Given the description of an element on the screen output the (x, y) to click on. 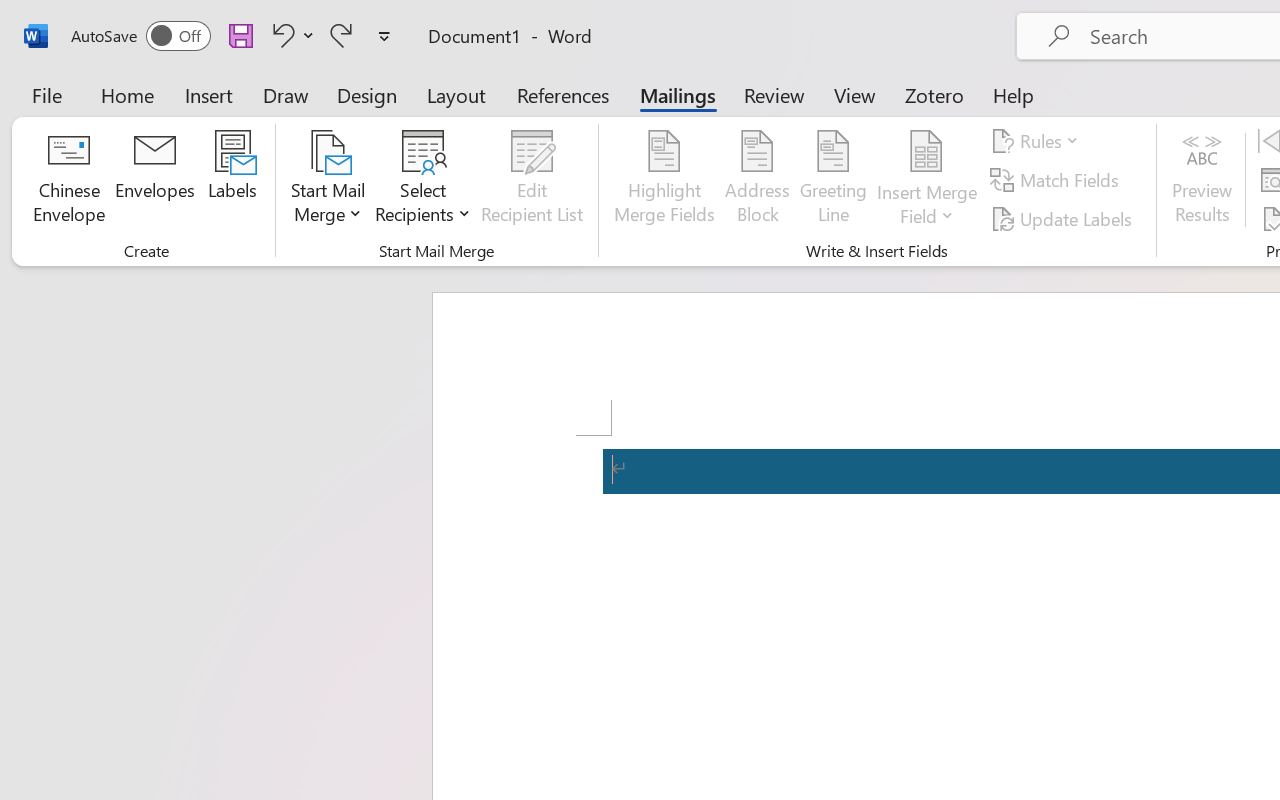
Envelopes... (155, 179)
Insert Merge Field (927, 151)
Chinese Envelope... (68, 179)
